Given the description of an element on the screen output the (x, y) to click on. 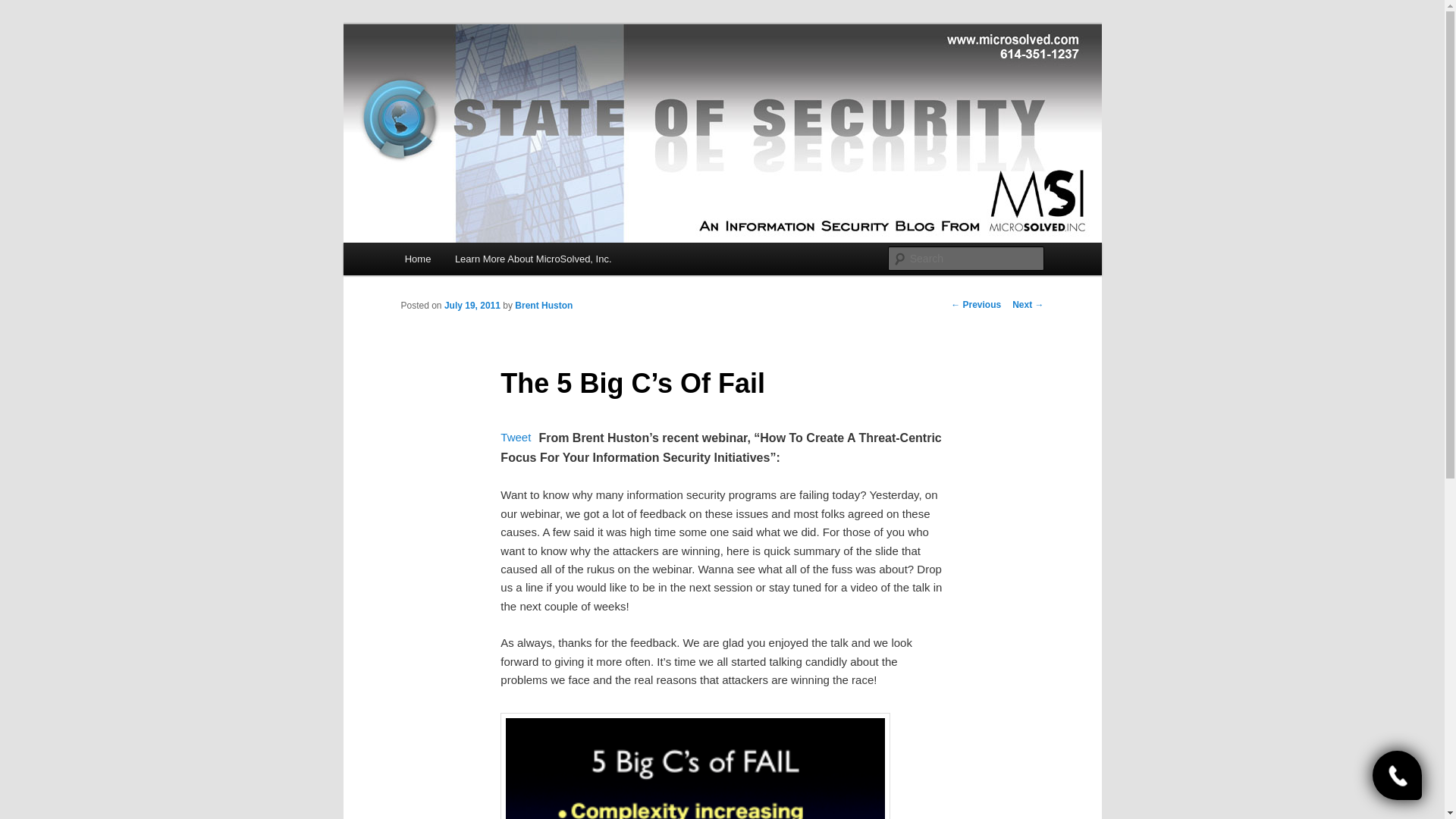
View all posts by Brent Huston (543, 305)
Brent Huston (543, 305)
Learn More About MicroSolved, Inc. (532, 258)
Tweet (515, 436)
The5CsOfFail.003 (694, 765)
July 19, 2011 (472, 305)
Search (24, 8)
MSI :: State of Security (523, 78)
8:00 am (472, 305)
